Given the description of an element on the screen output the (x, y) to click on. 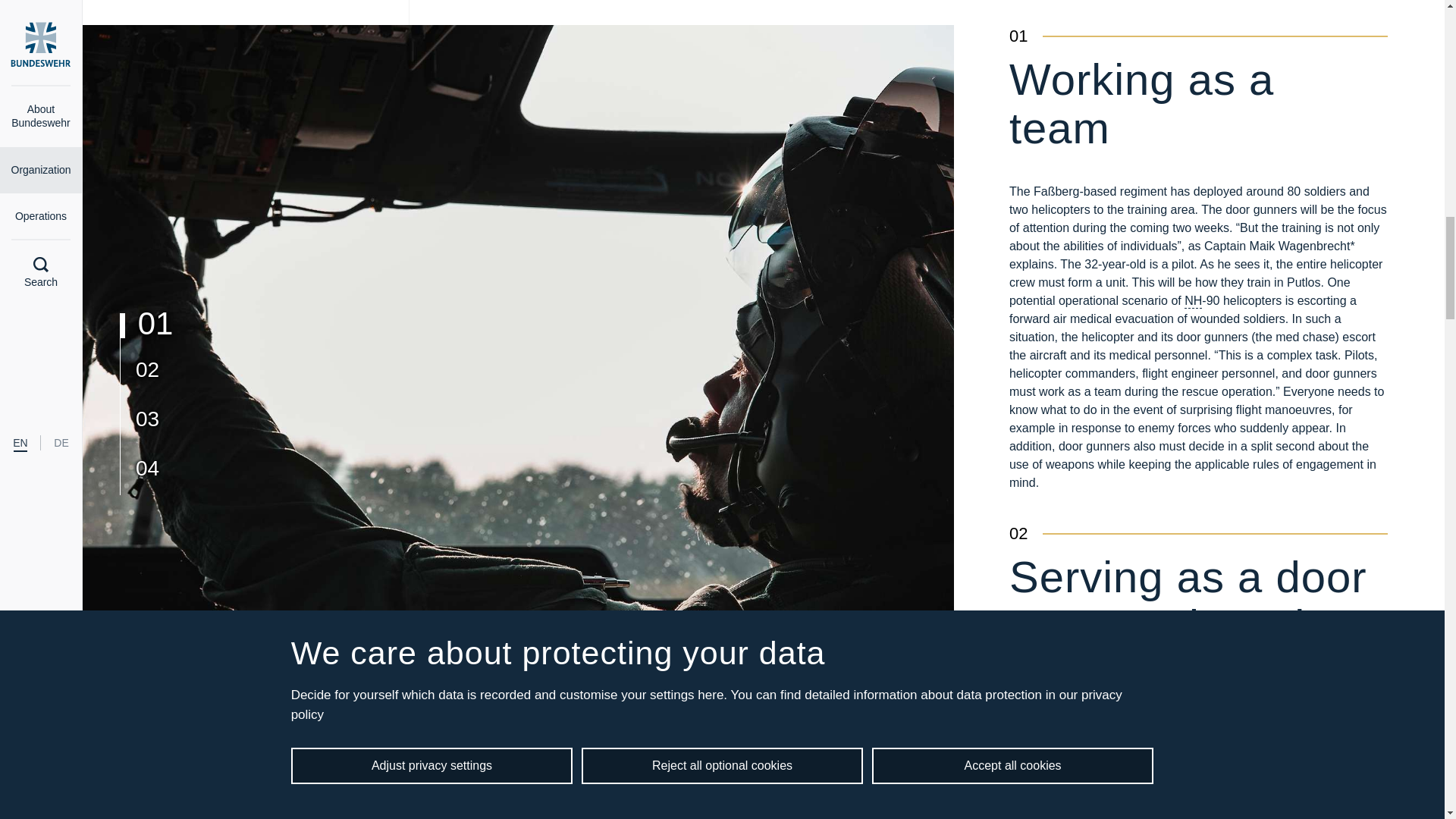
NATO-Helicopter (1193, 301)
